Given the description of an element on the screen output the (x, y) to click on. 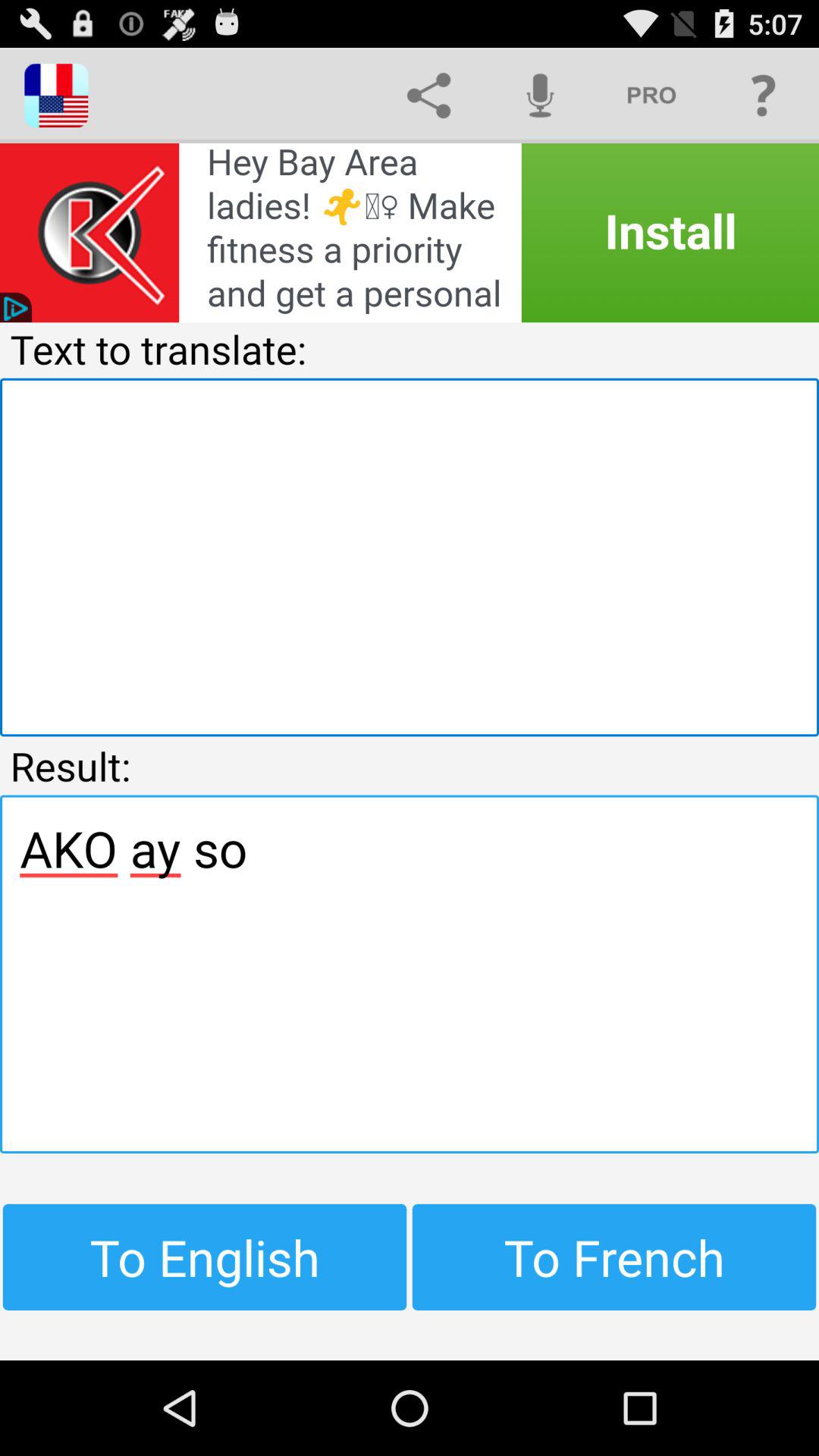
scroll to the to english item (204, 1257)
